Given the description of an element on the screen output the (x, y) to click on. 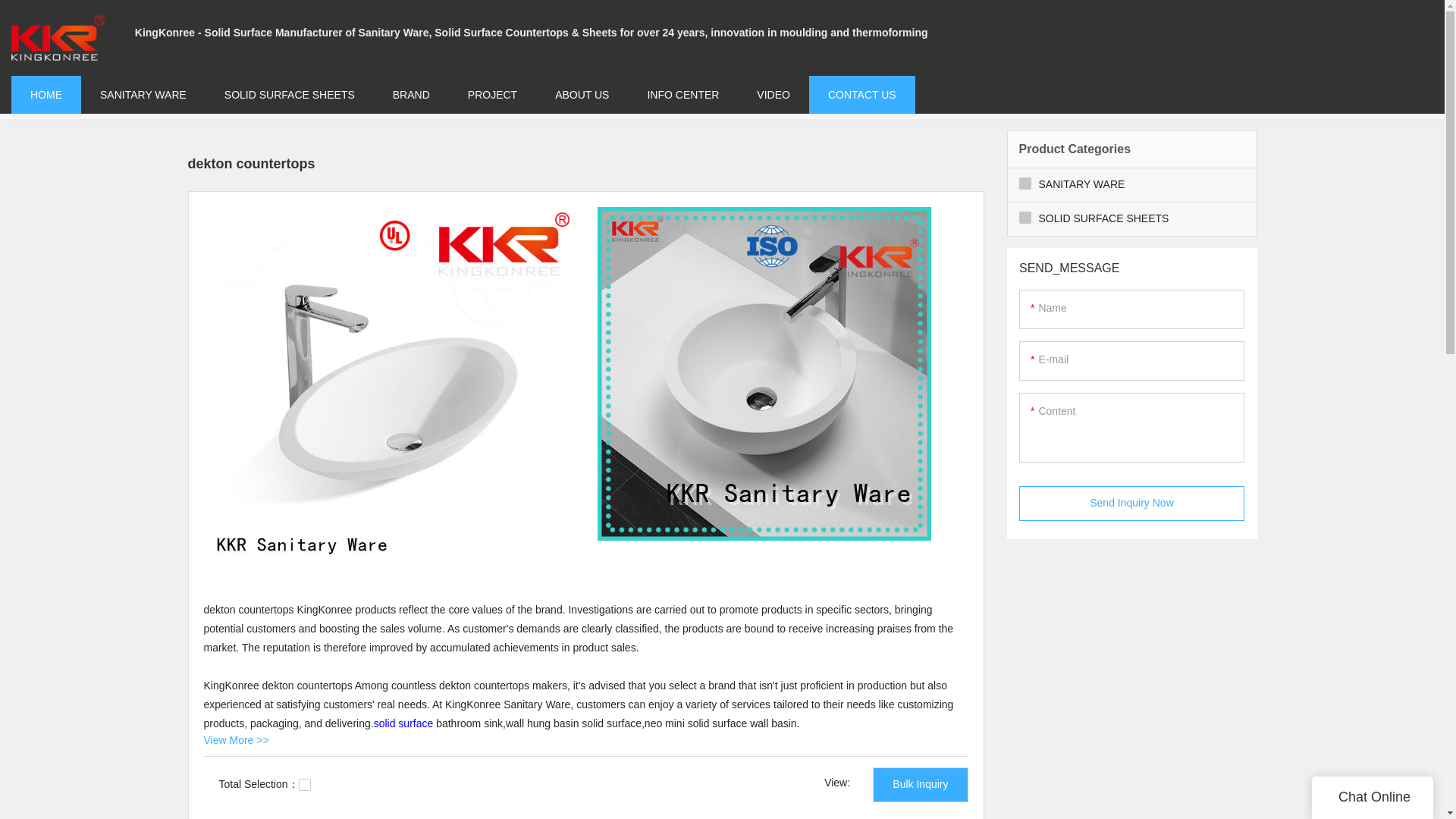
HOME (46, 94)
SANITARY WARE (143, 94)
on (304, 784)
